Given the description of an element on the screen output the (x, y) to click on. 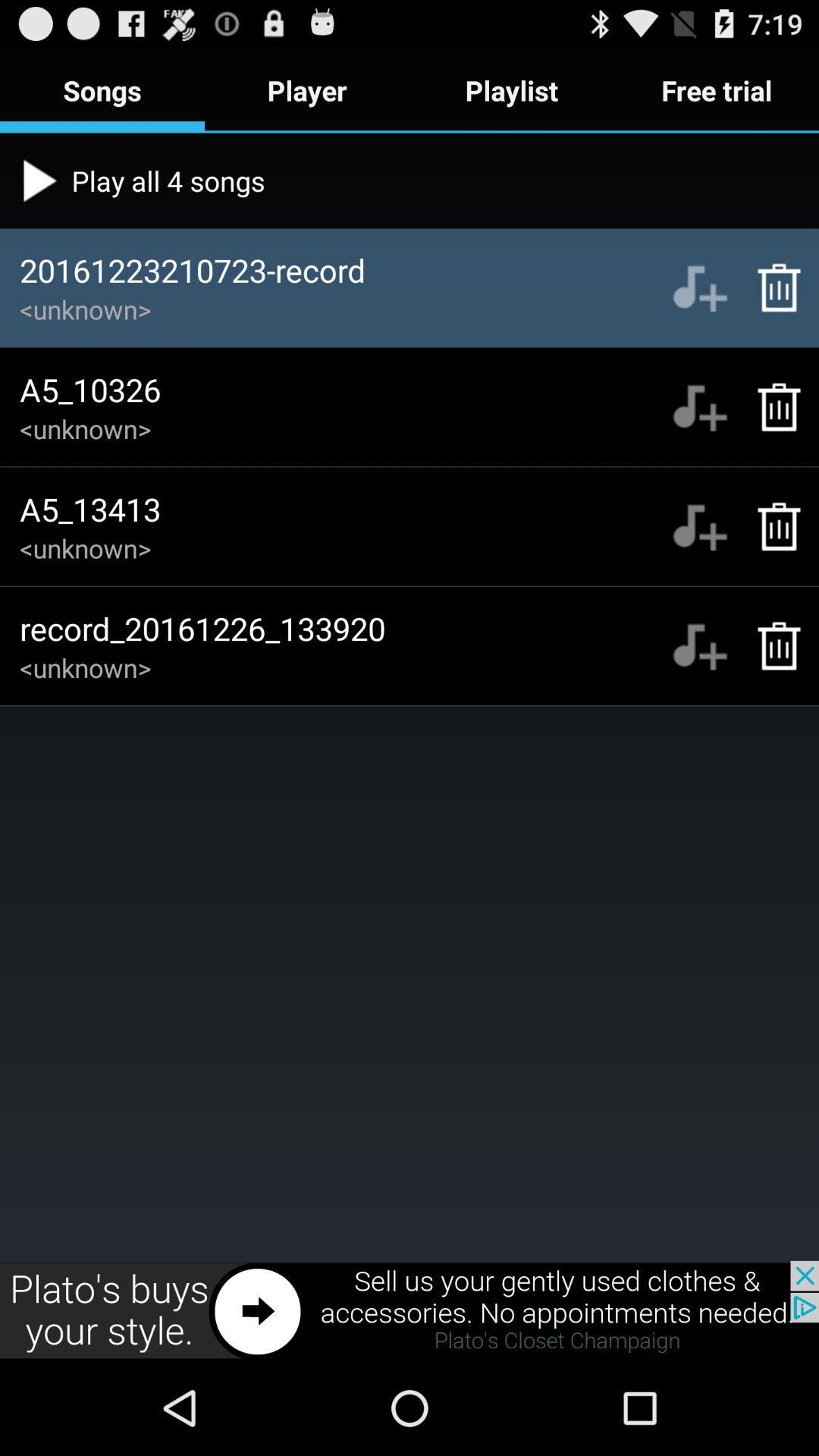
delete (771, 407)
